Given the description of an element on the screen output the (x, y) to click on. 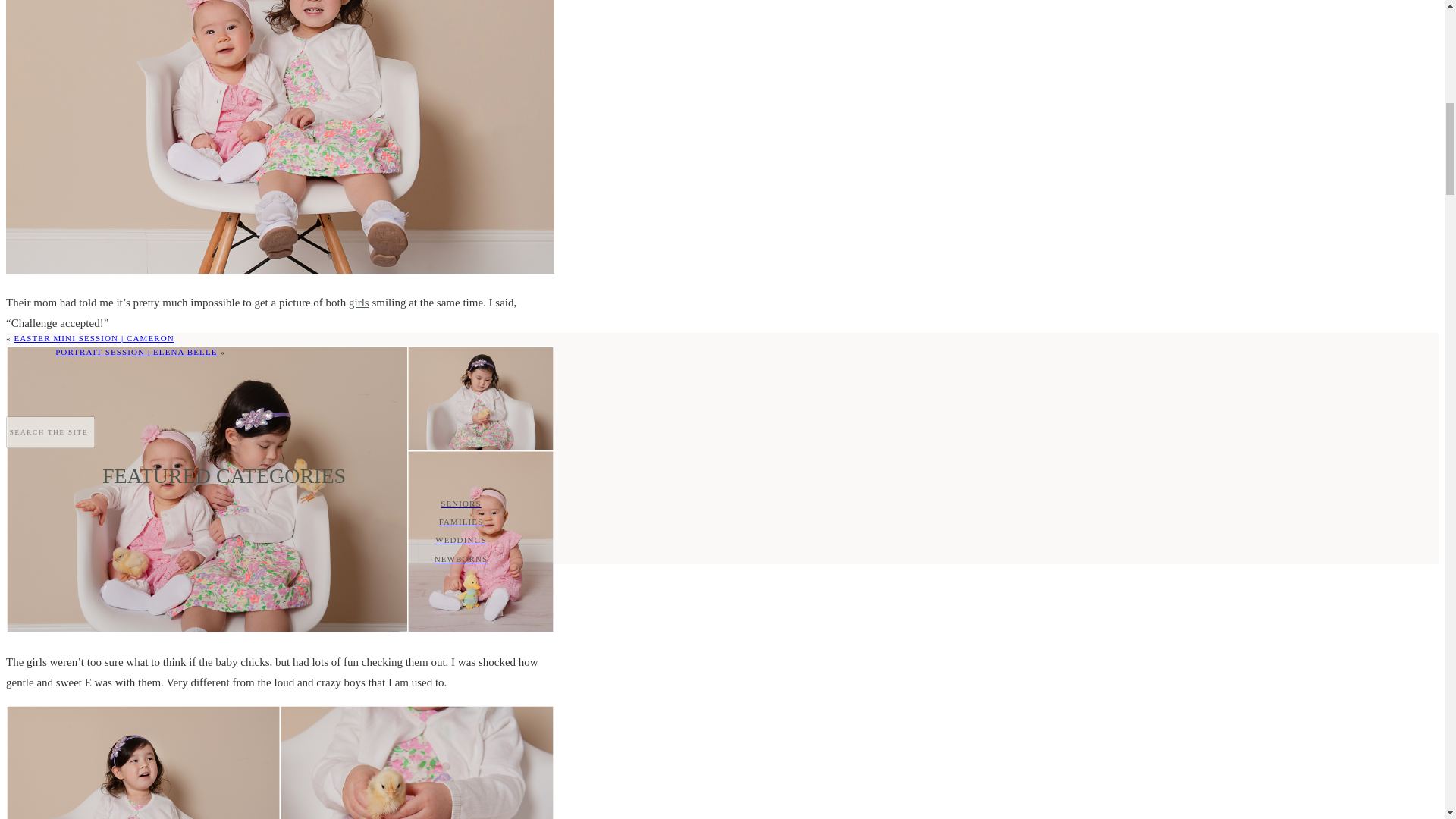
girls (359, 302)
